Given the description of an element on the screen output the (x, y) to click on. 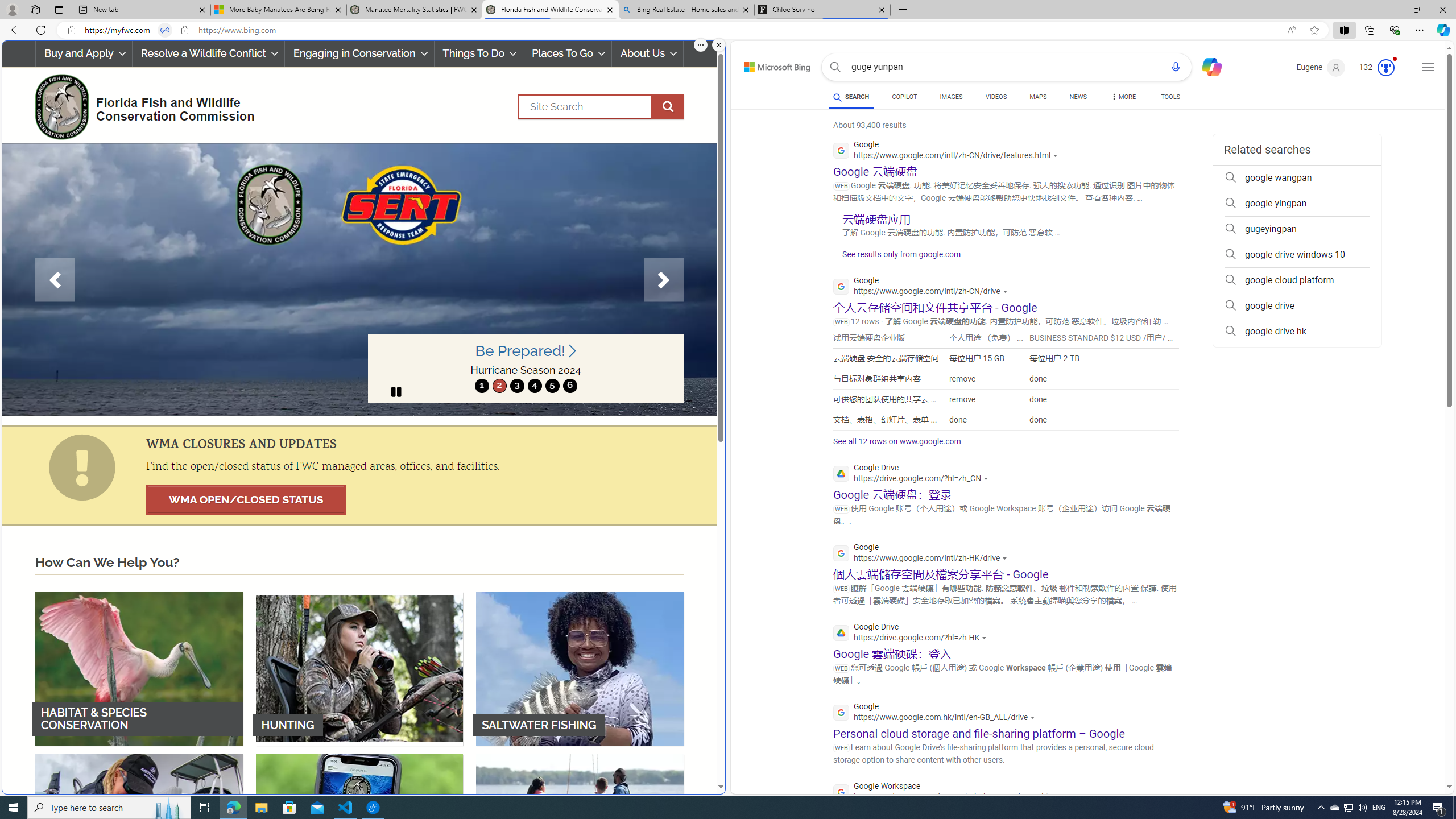
Tabs in split screen (164, 29)
Address and search bar (680, 29)
Previous (54, 279)
HUNTING (358, 668)
Next (663, 279)
Google (936, 713)
Chat (1207, 65)
More options. (700, 45)
Microsoft Rewards 123 (1377, 67)
Resolve a Wildlife Conflict (208, 53)
Chat (1207, 65)
